Given the description of an element on the screen output the (x, y) to click on. 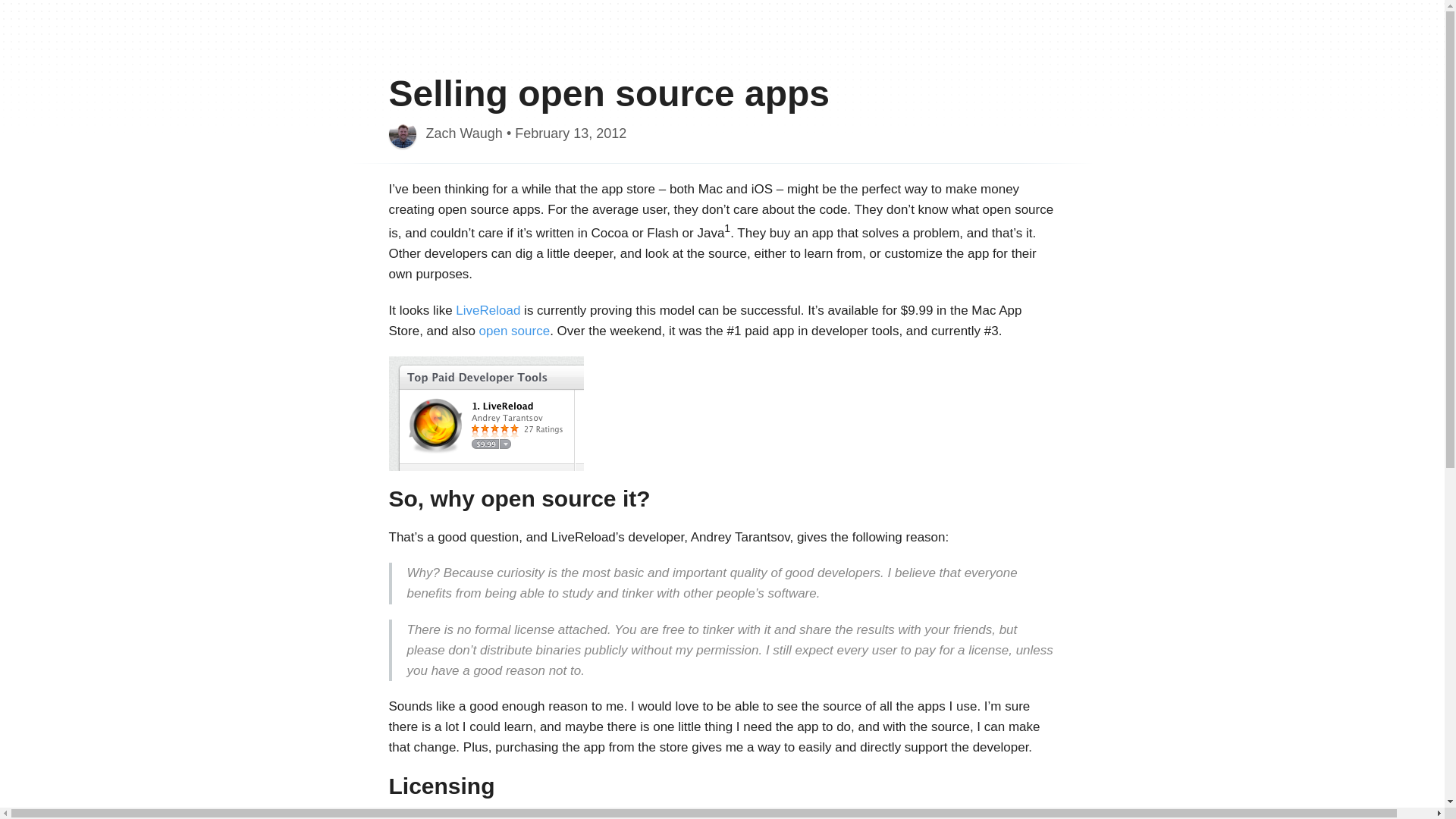
open source (514, 330)
LiveReload (487, 310)
